Given the description of an element on the screen output the (x, y) to click on. 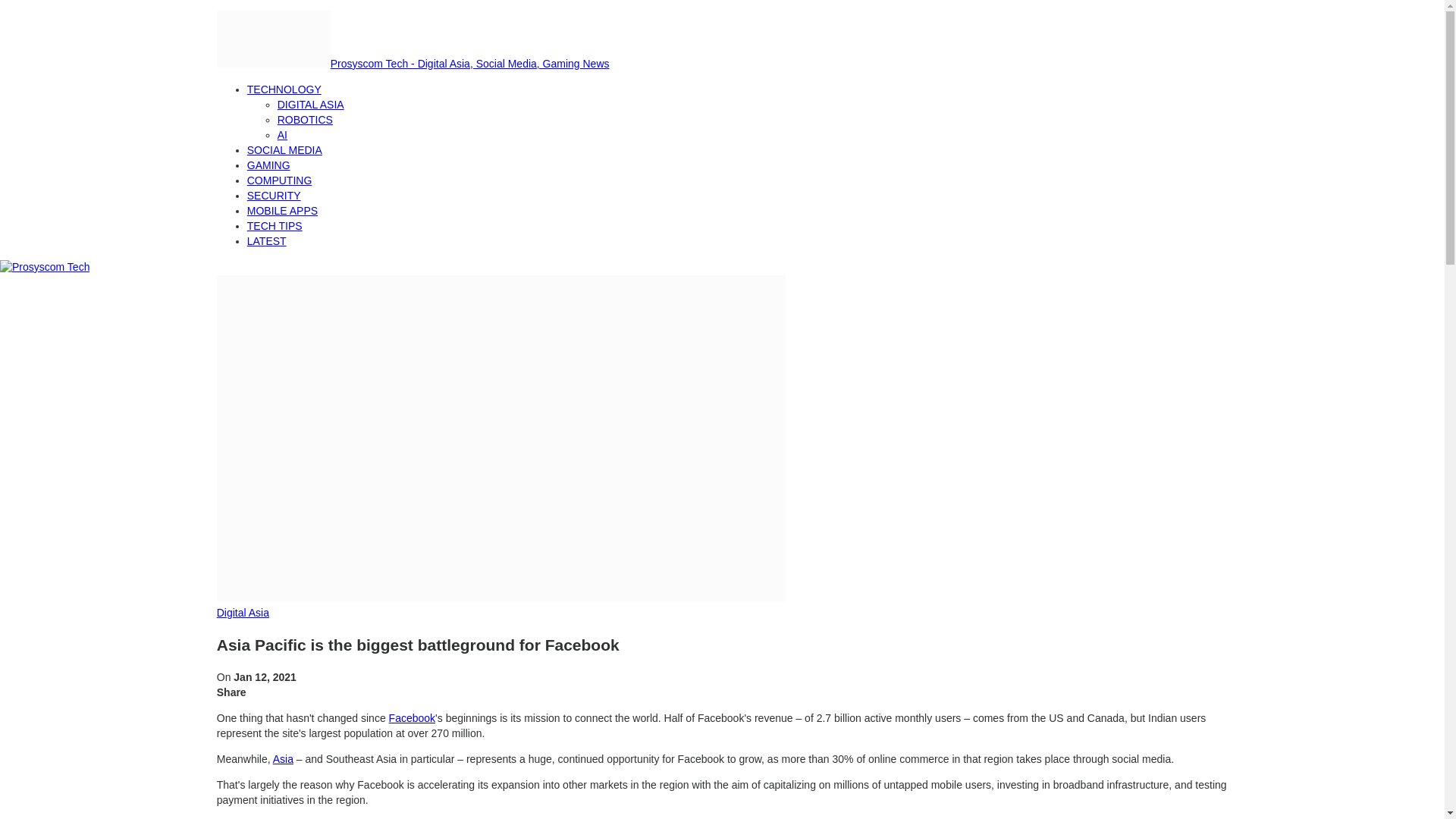
SECURITY (274, 195)
ROBOTICS (305, 119)
TECH TIPS (274, 225)
Posts tagged with facebook (411, 717)
Posts tagged with asia (283, 758)
Digital Asia (242, 612)
Facebook (411, 717)
COMPUTING (280, 180)
SOCIAL MEDIA (284, 150)
MOBILE APPS (282, 210)
Asia (283, 758)
TECHNOLOGY (284, 89)
Prosyscom Tech - Digital Asia, Social Media, Gaming News (413, 63)
DIGITAL ASIA (310, 104)
LATEST (266, 241)
